Given the description of an element on the screen output the (x, y) to click on. 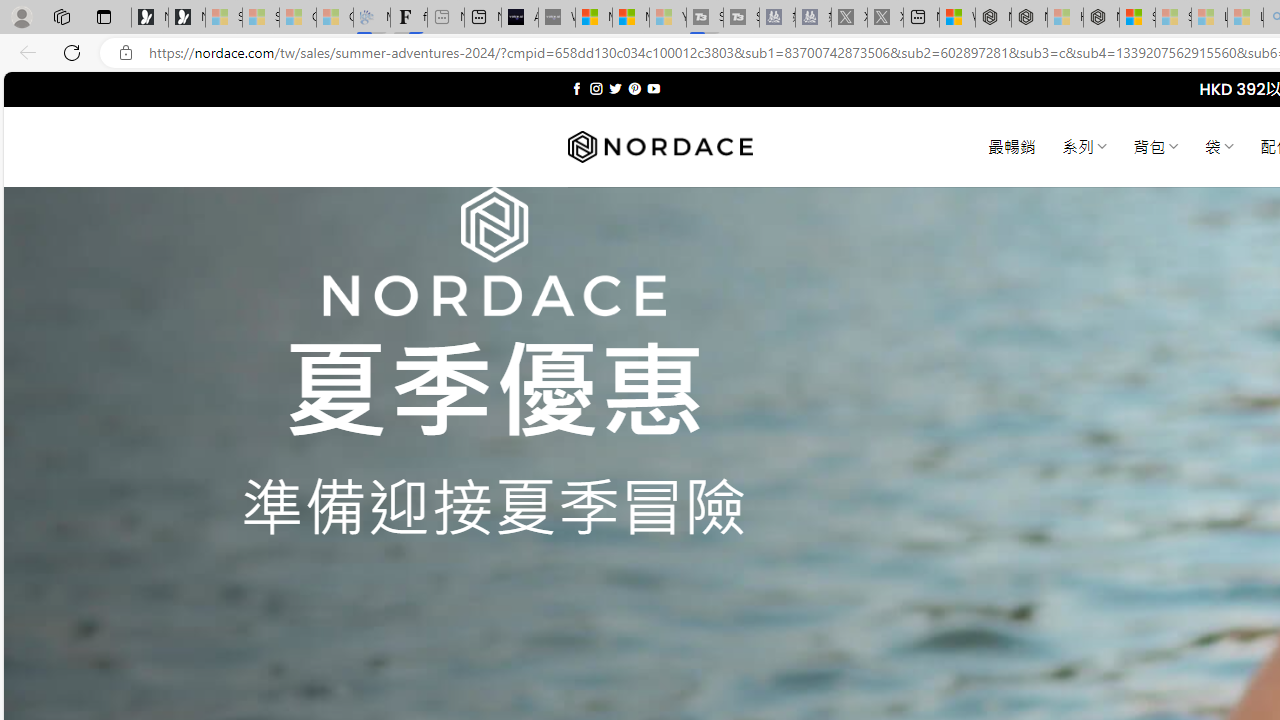
What's the best AI voice generator? - voice.ai - Sleeping (556, 17)
